Given the description of an element on the screen output the (x, y) to click on. 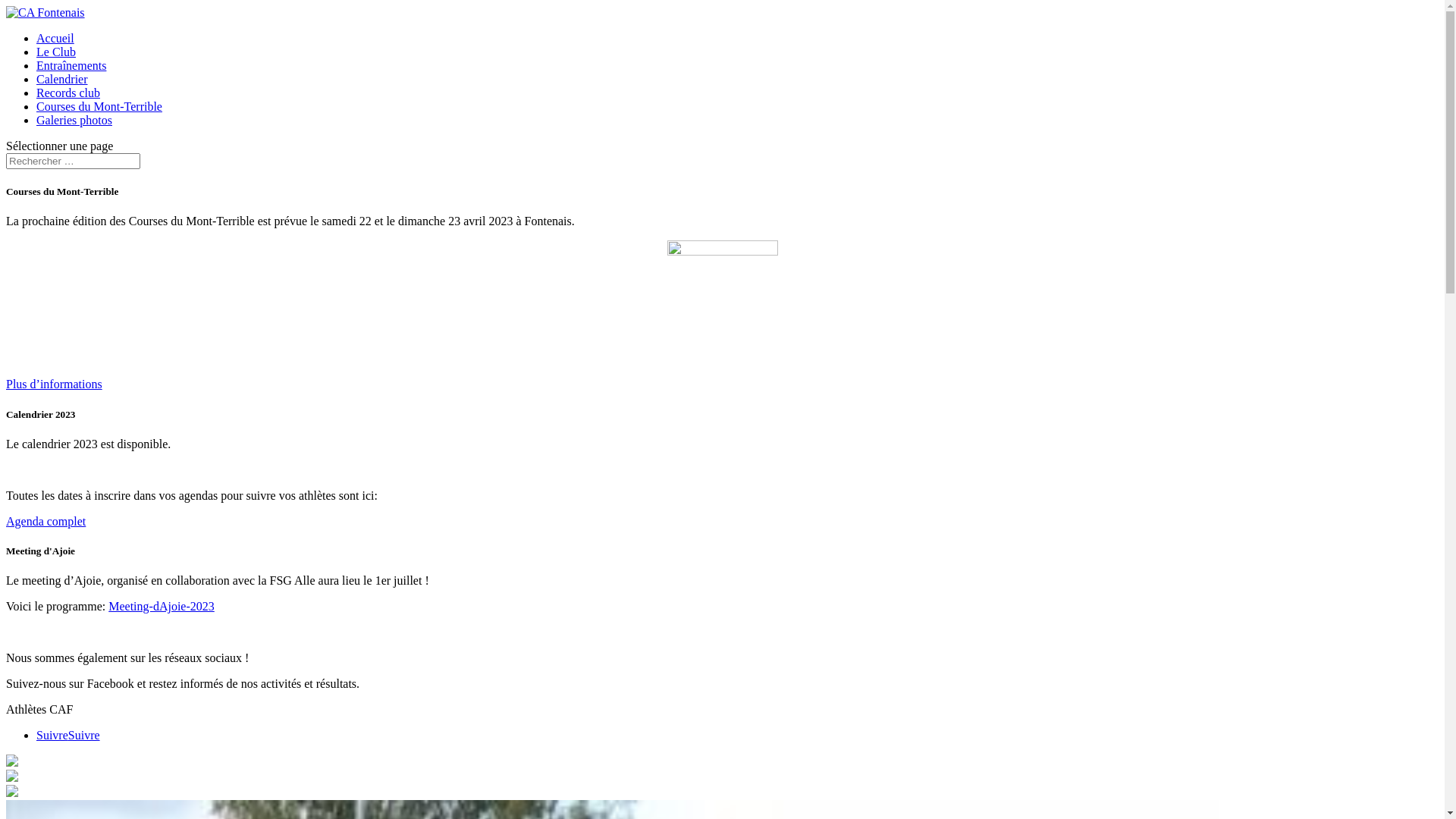
Rechercher: Element type: hover (73, 161)
Accueil Element type: text (55, 37)
Records club Element type: text (68, 92)
Calendrier Element type: text (61, 78)
Le Club Element type: text (55, 51)
Courses du Mont-Terrible Element type: text (99, 106)
Agenda complet Element type: text (45, 520)
IMG_1187 Element type: hover (12, 777)
Suivre Element type: text (84, 734)
Bassecourt_Maelle Element type: hover (12, 792)
Meeting-dAjoie-2023 Element type: text (161, 605)
Galeries photos Element type: text (74, 119)
Suivre Element type: text (52, 734)
36423285_1930648373632079_1497346524189818880_o Element type: hover (12, 762)
